Given the description of an element on the screen output the (x, y) to click on. 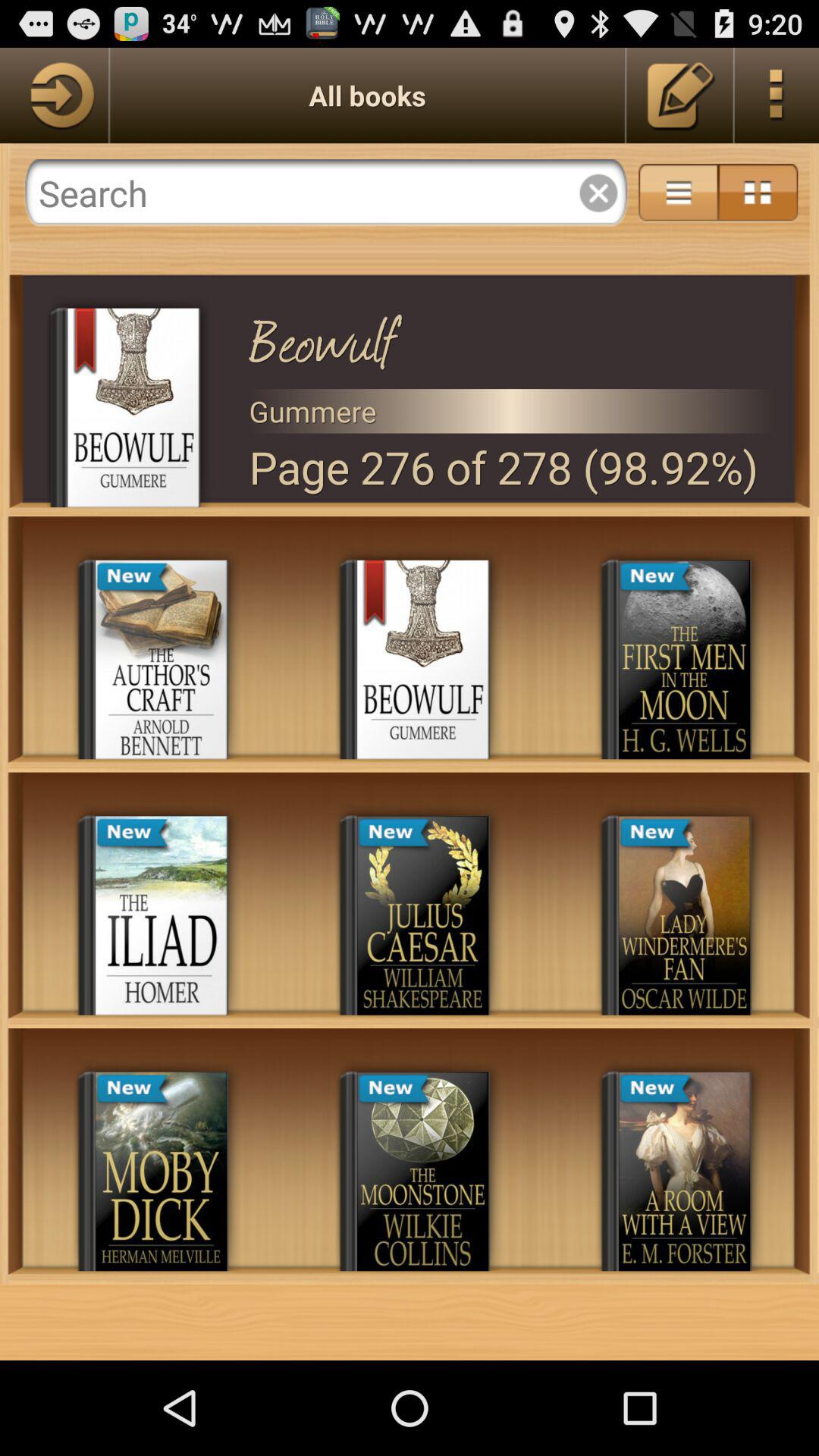
dropdown view button (678, 192)
